Given the description of an element on the screen output the (x, y) to click on. 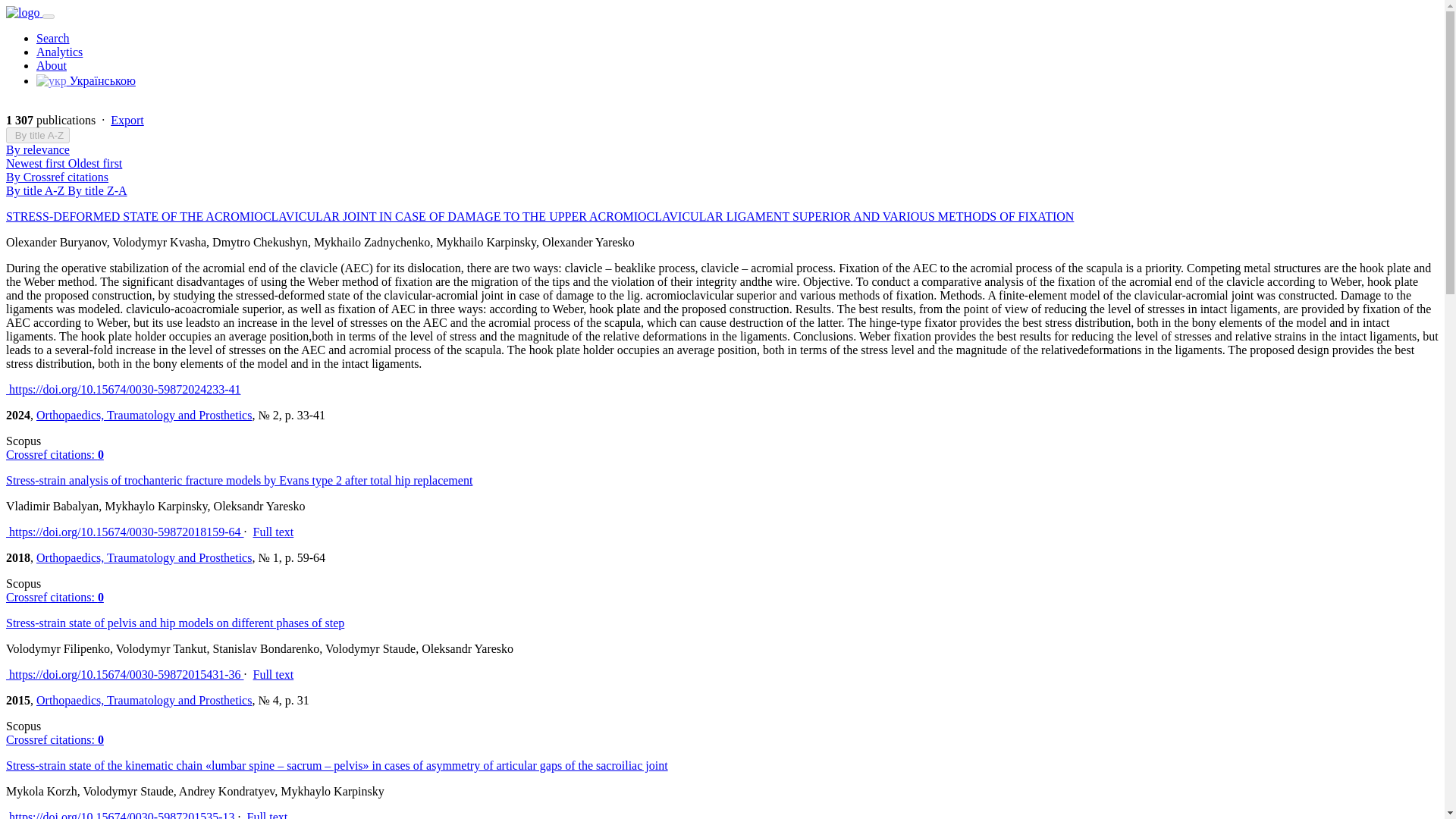
By title Z-A (96, 190)
Analytics (59, 51)
About (51, 65)
Newest first (36, 163)
Export (127, 119)
Orthopaedics, Traumatology and Prosthetics (143, 414)
Crossref citations: 0 (54, 739)
Oldest first (95, 163)
By relevance (37, 149)
